Given the description of an element on the screen output the (x, y) to click on. 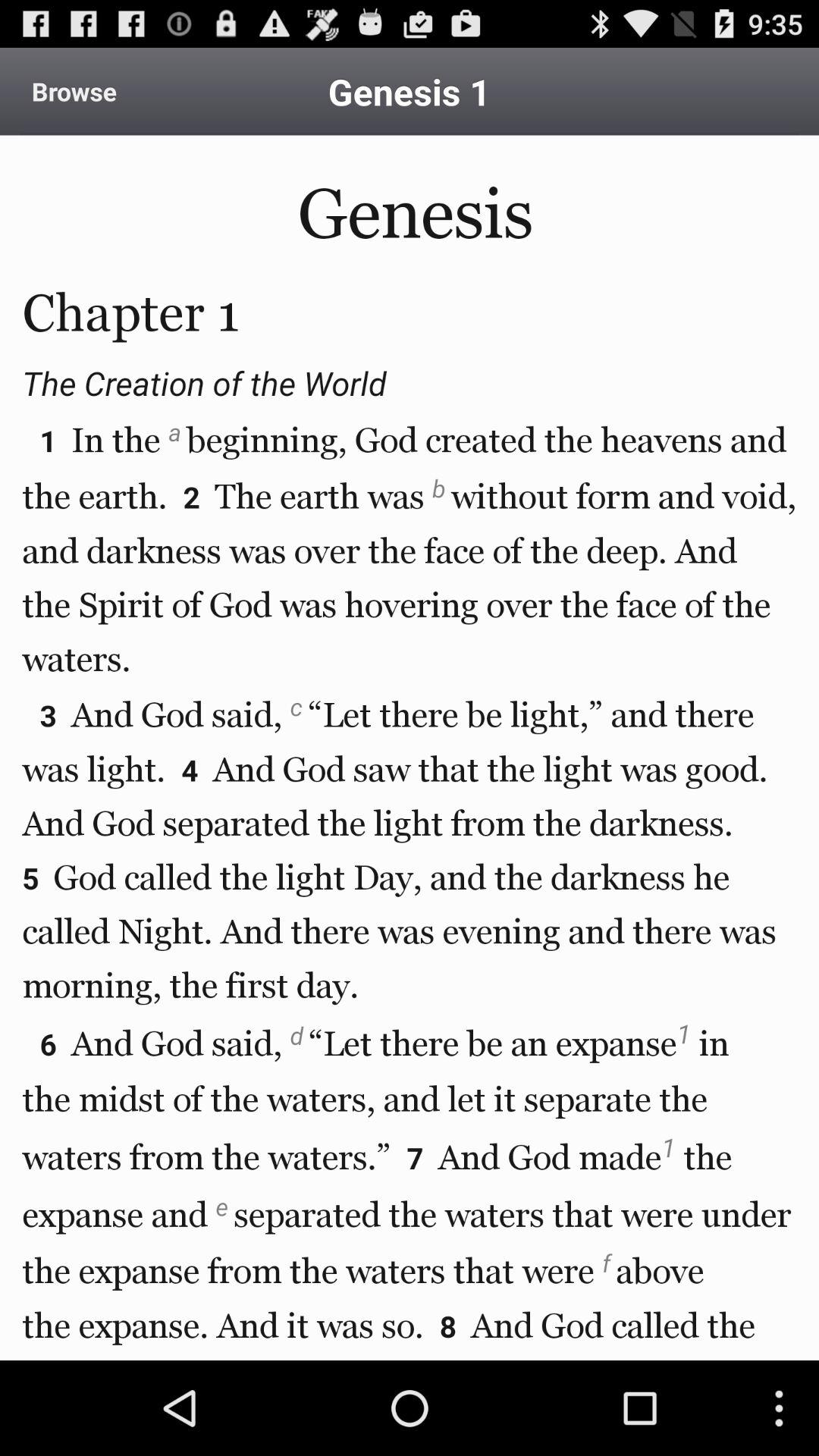
scroll to browse (73, 91)
